Given the description of an element on the screen output the (x, y) to click on. 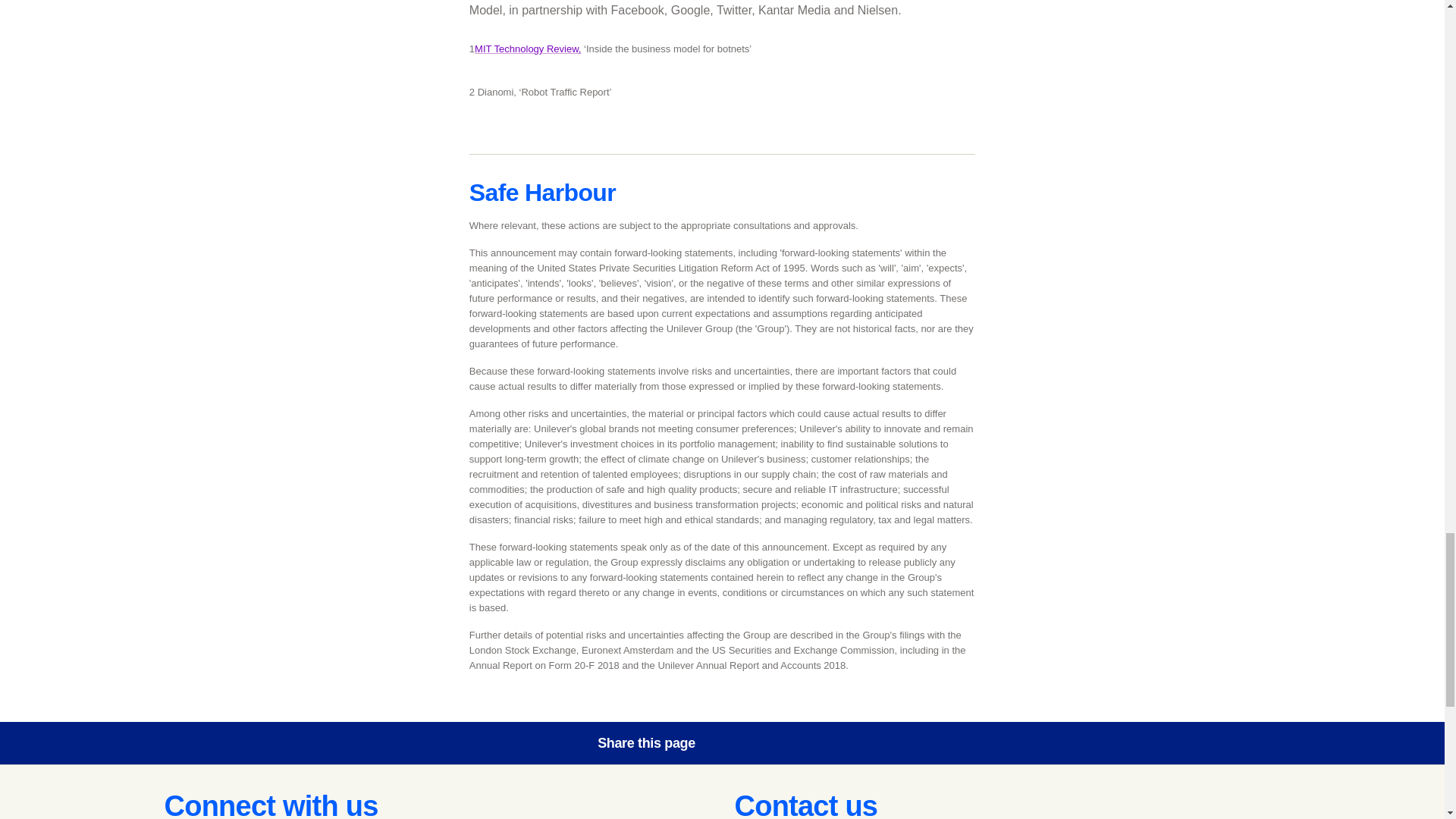
Share this page on X (782, 743)
Share this page on Linked In (825, 743)
MIT Technology Review, (527, 48)
Share this page on E-mail (868, 743)
Share this page on Facebook (740, 743)
